Given the description of an element on the screen output the (x, y) to click on. 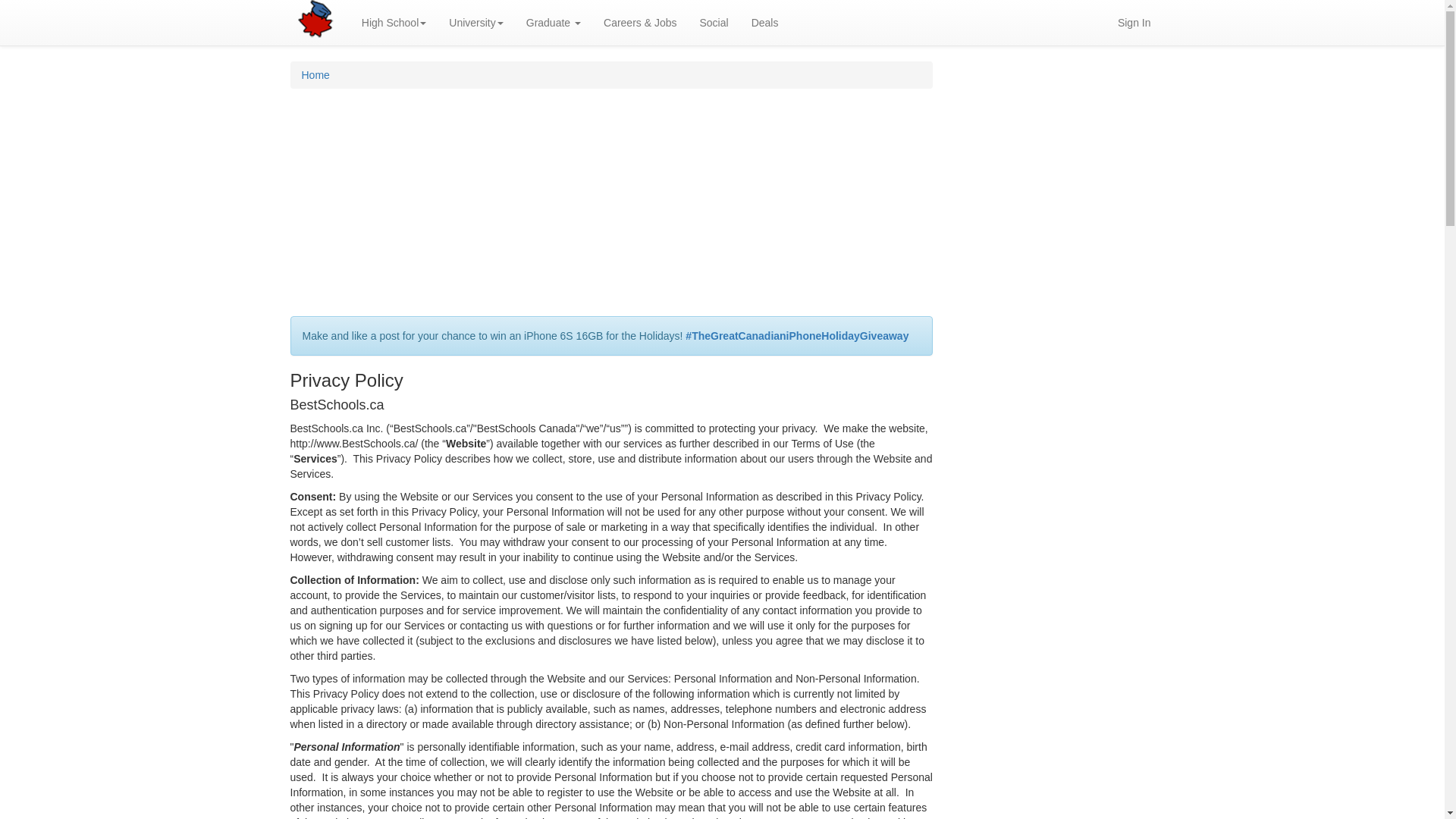
Home Element type: text (315, 75)
Careers & Jobs Element type: text (639, 22)
High School Element type: text (394, 22)
Social Element type: text (714, 22)
Sign In Element type: text (1134, 22)
#TheGreatCanadianiPhoneHolidayGiveaway Element type: text (796, 335)
Graduate Element type: text (553, 22)
University Element type: text (475, 22)
Advertisement Element type: hover (610, 209)
Deals Element type: text (765, 22)
